Given the description of an element on the screen output the (x, y) to click on. 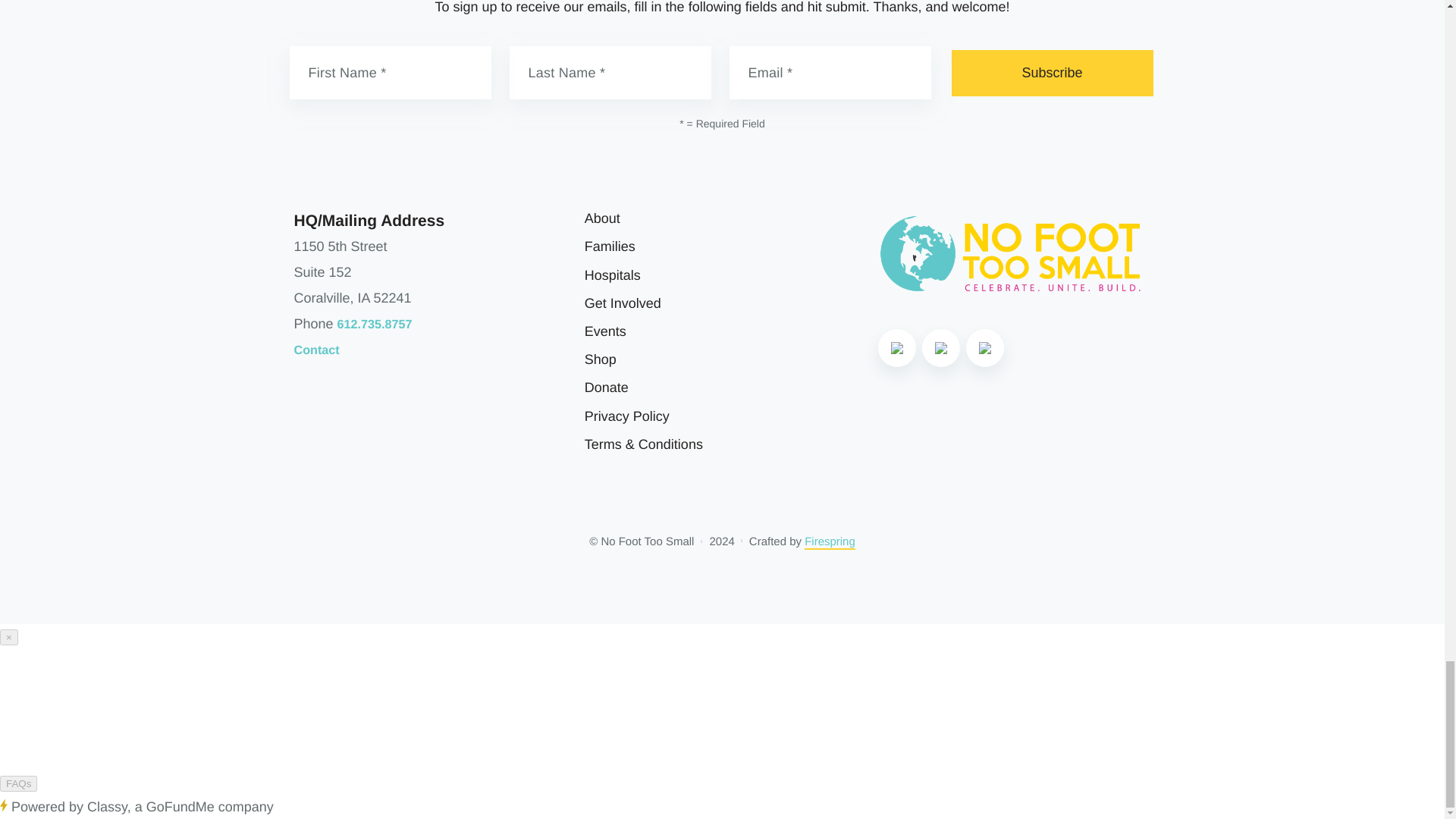
logo (1012, 253)
Subscribe (1051, 72)
